Given the description of an element on the screen output the (x, y) to click on. 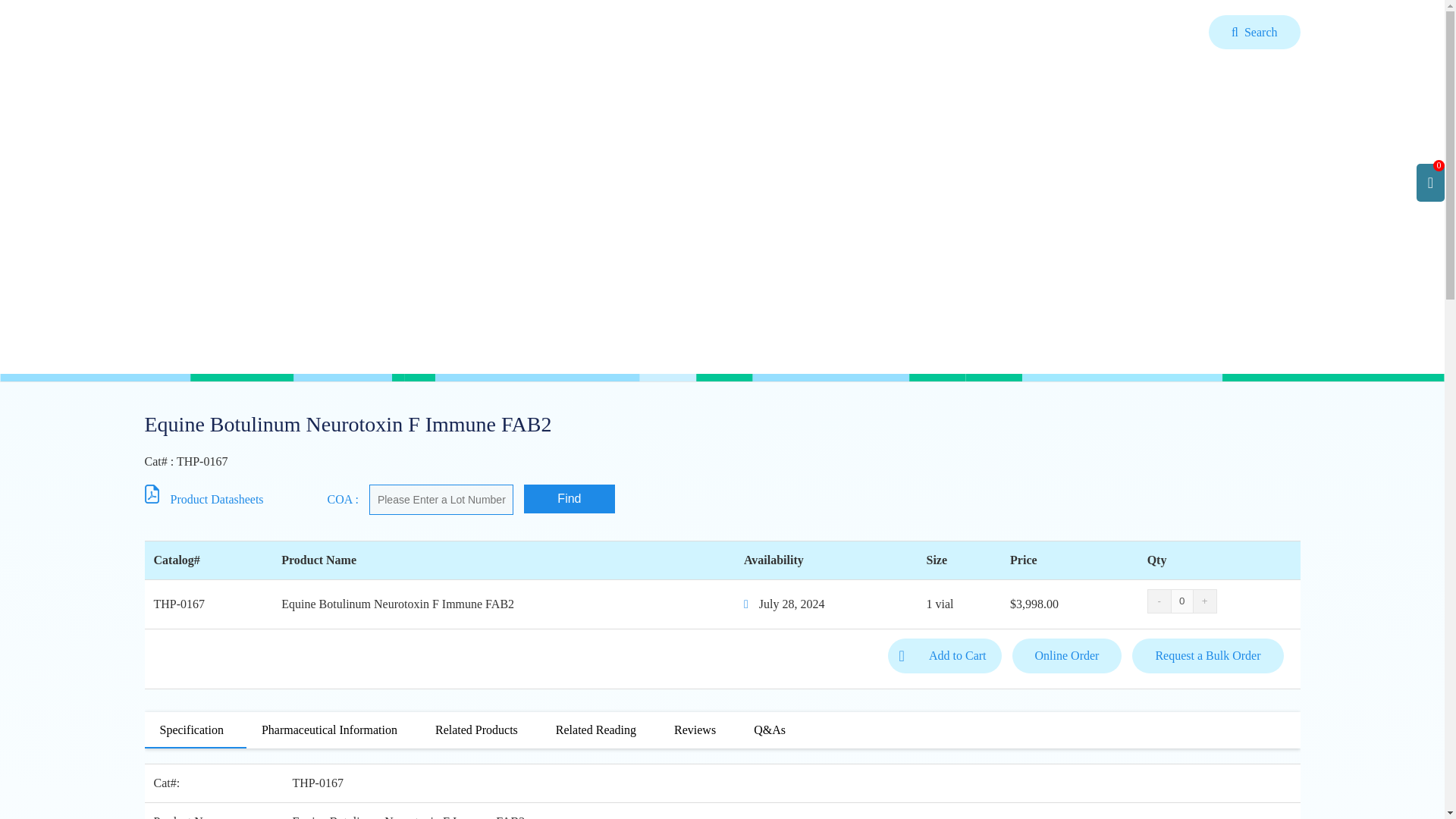
Pharmaceutical Information (329, 729)
  Search (1254, 32)
Company (1165, 31)
Specification (191, 729)
Add to Cart (944, 655)
- (1159, 600)
Request a Bulk Order (1207, 655)
Related Products (476, 729)
Find (569, 498)
Inquiry (1015, 31)
Home (859, 31)
Online Order (1066, 655)
Product Datasheets (212, 499)
Order (1087, 31)
Products (935, 31)
